Given the description of an element on the screen output the (x, y) to click on. 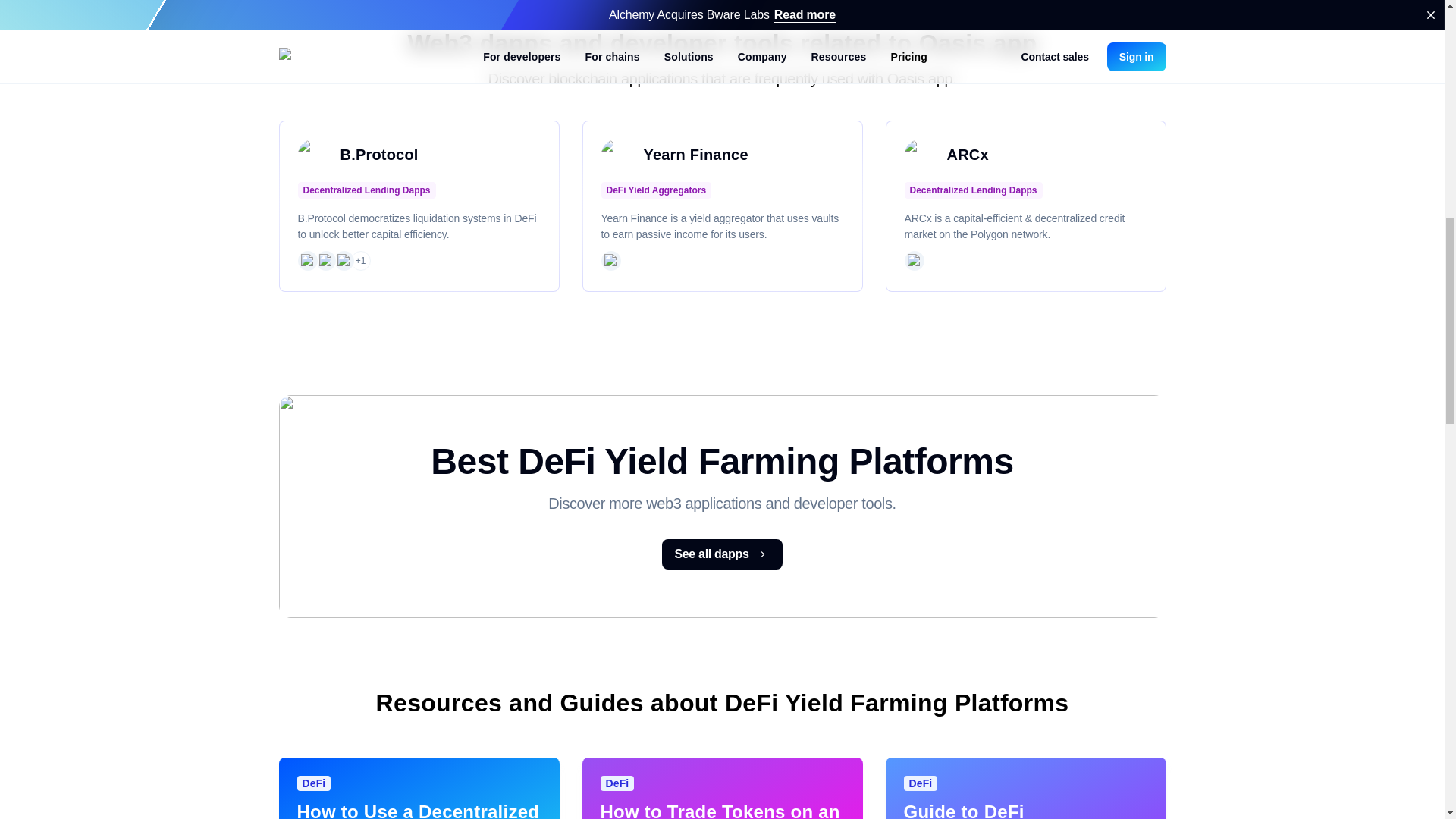
Ethereum (306, 260)
Polygon (324, 260)
Arbitrum (343, 260)
Ethereum (610, 260)
Polygon (913, 260)
